Given the description of an element on the screen output the (x, y) to click on. 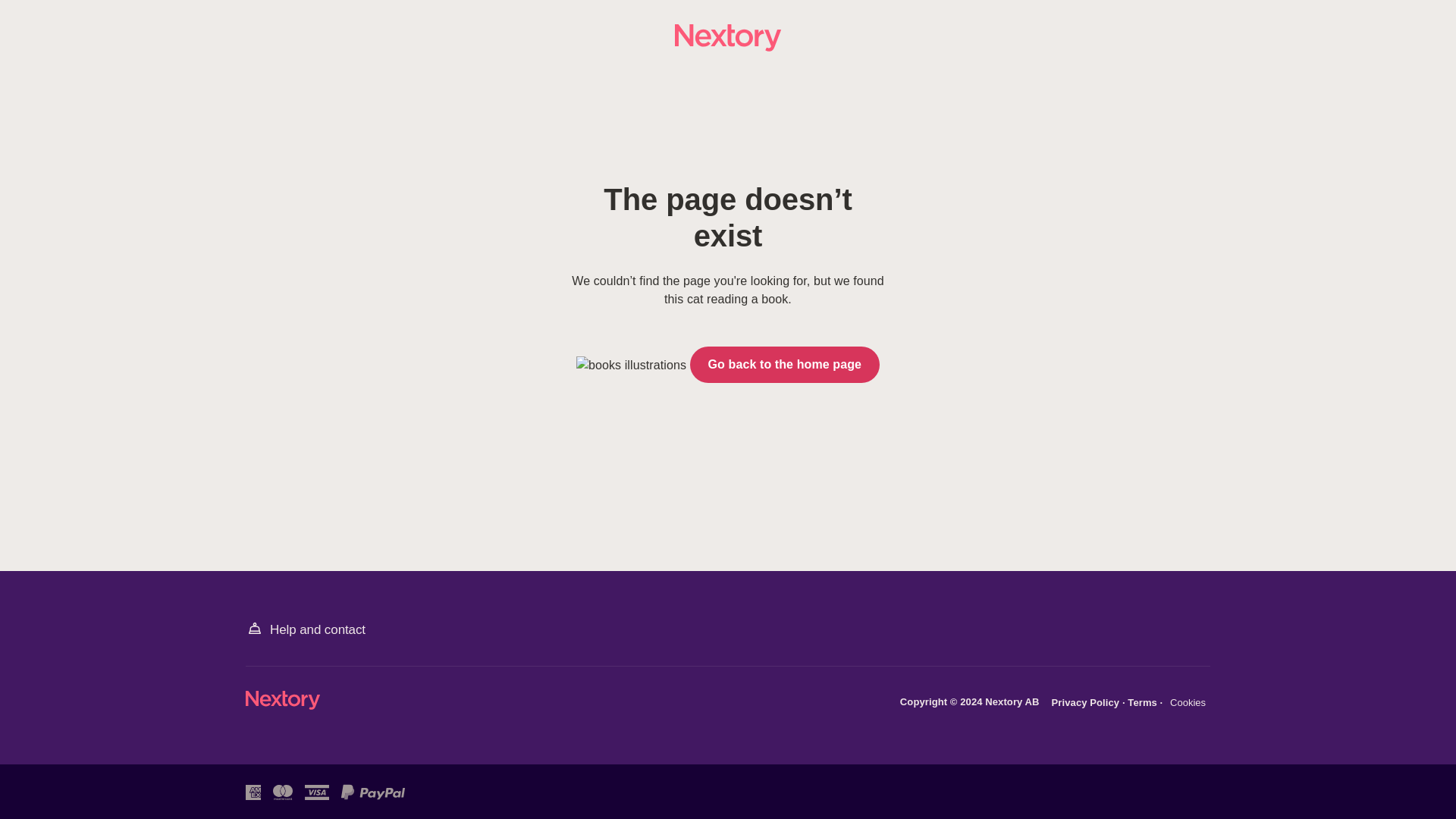
American Express (253, 792)
Cookies (1187, 703)
Privacy Policy (1086, 702)
Paypal (372, 791)
Visa (316, 792)
Mastercard (282, 792)
Help and contact (305, 629)
Terms (1142, 702)
Go back to the home page (784, 364)
